Given the description of an element on the screen output the (x, y) to click on. 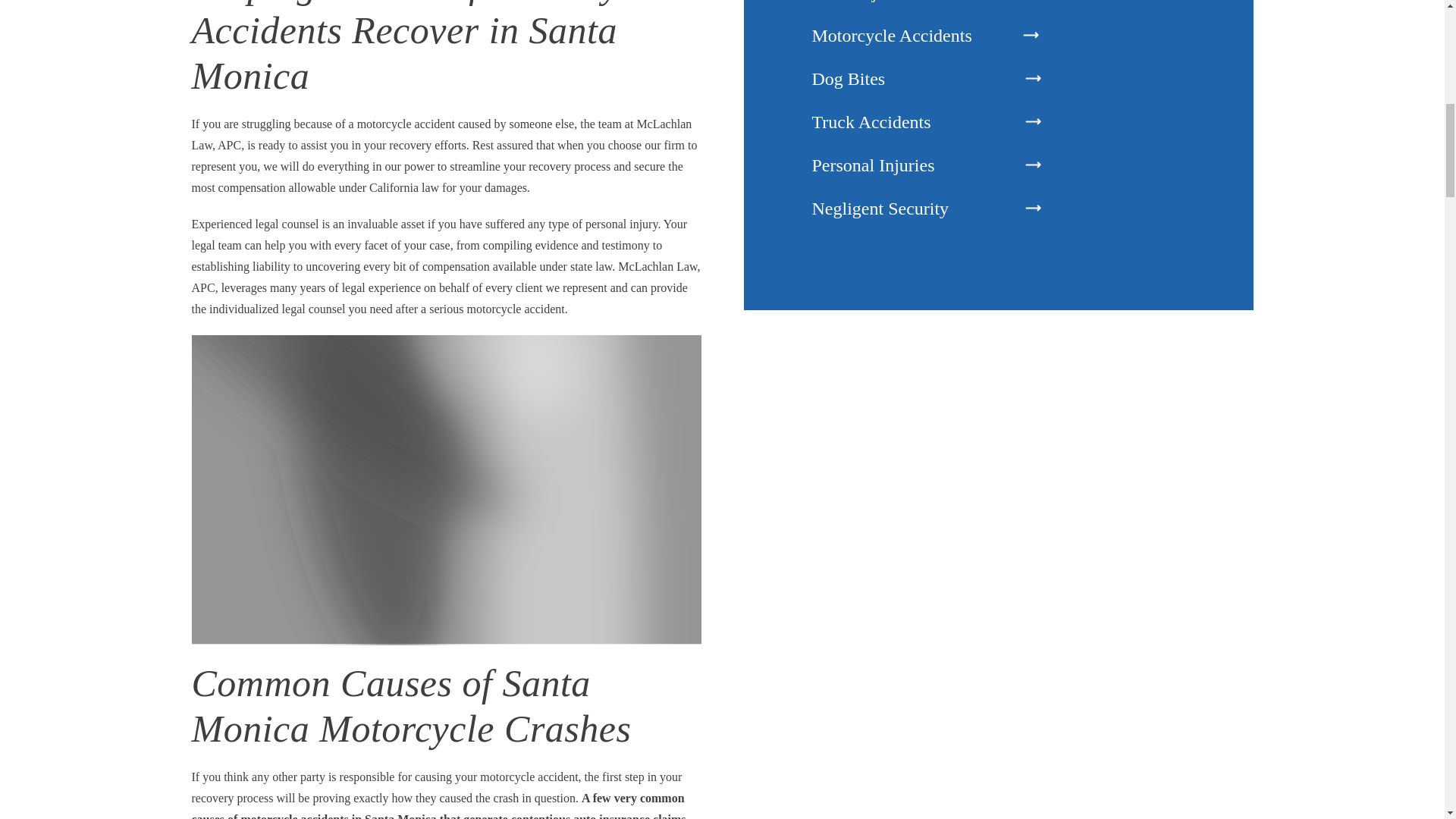
Truck Accidents (910, 122)
Personal Injuries (910, 165)
Negligent Security (910, 208)
Dog Bites (910, 78)
Motorcycle Accidents (910, 35)
Brain Injuries (910, 7)
